Given the description of an element on the screen output the (x, y) to click on. 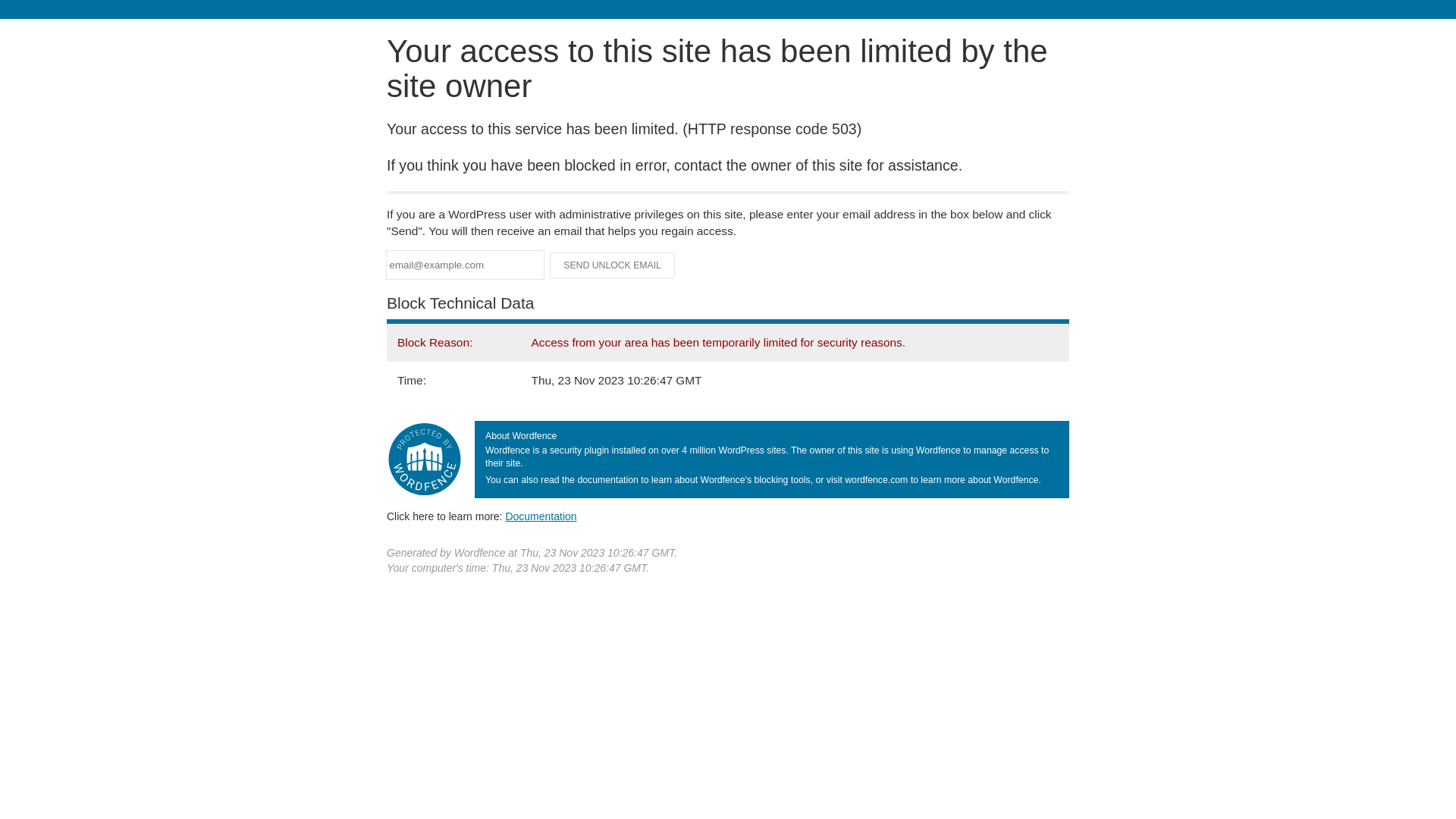
Send Unlock Email Element type: text (612, 265)
Documentation Element type: text (540, 516)
